Given the description of an element on the screen output the (x, y) to click on. 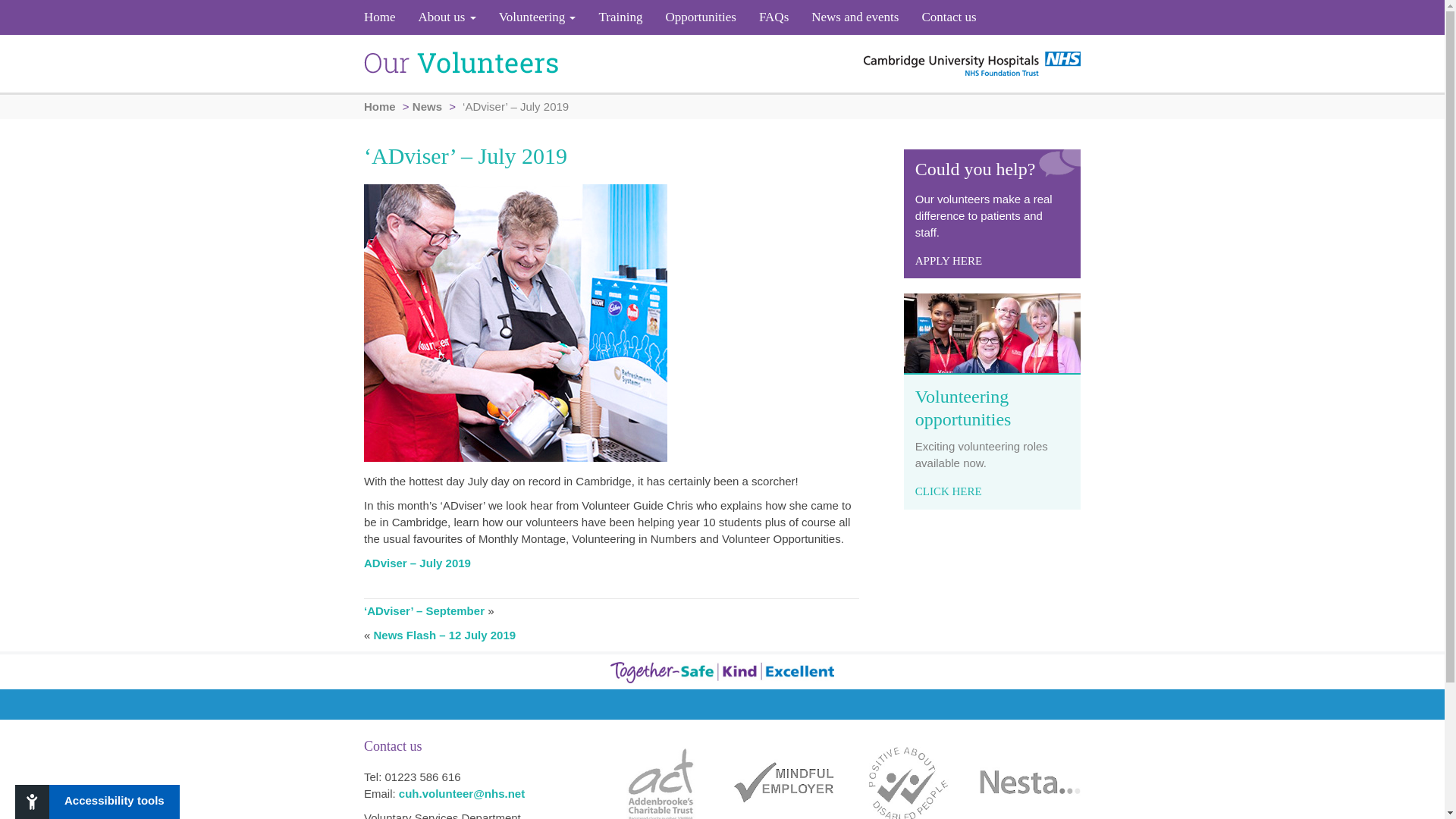
Volunteering (537, 17)
Home (385, 17)
About us (447, 17)
Home (380, 106)
FAQs (773, 17)
Training (619, 17)
Opportunities (700, 17)
News (427, 106)
Contact us (942, 17)
News and events (854, 17)
Home (385, 17)
Opportunities (700, 17)
CLICK HERE (948, 491)
Contact us (942, 17)
Training (619, 17)
